Given the description of an element on the screen output the (x, y) to click on. 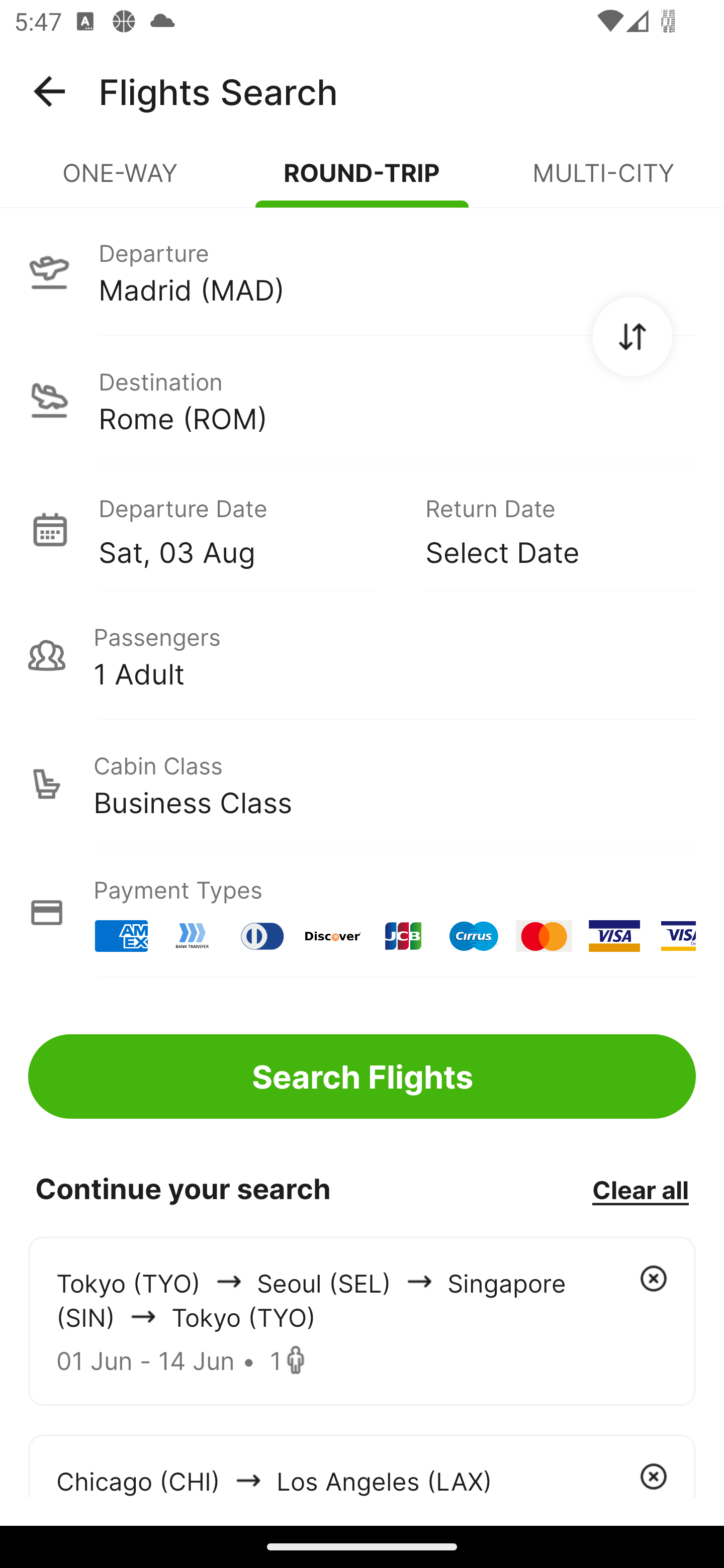
ONE-WAY (120, 180)
ROUND-TRIP (361, 180)
MULTI-CITY (603, 180)
Departure Madrid (MAD) (362, 270)
Destination Rome (ROM) (362, 400)
Departure Date Sat, 03 Aug (247, 528)
Return Date Select Date (546, 528)
Passengers 1 Adult (362, 655)
Cabin Class Business Class (362, 783)
Payment Types (362, 912)
Search Flights (361, 1075)
Clear all (640, 1189)
Chicago (CHI)  arrowIcon  Los Angeles (LAX) (361, 1465)
